Given the description of an element on the screen output the (x, y) to click on. 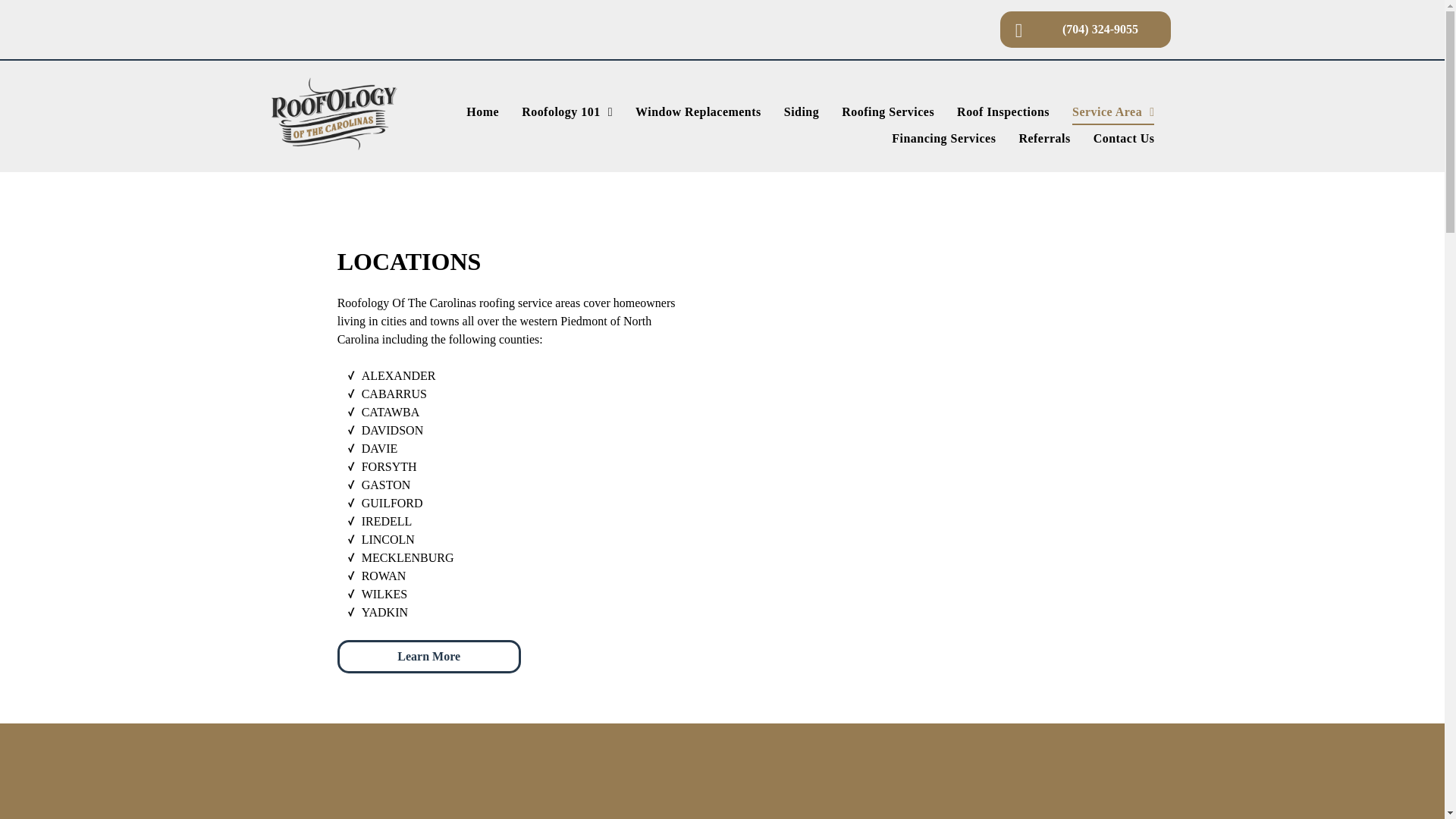
Roofing Services (886, 112)
Financing Services (943, 137)
Window Replacements (698, 112)
Referrals (1044, 137)
Service Area (1113, 112)
Contact Us (1123, 137)
Home (482, 112)
Roofology 101 (567, 112)
Roof Inspections (1002, 112)
Siding (801, 112)
Learn More (429, 656)
